Given the description of an element on the screen output the (x, y) to click on. 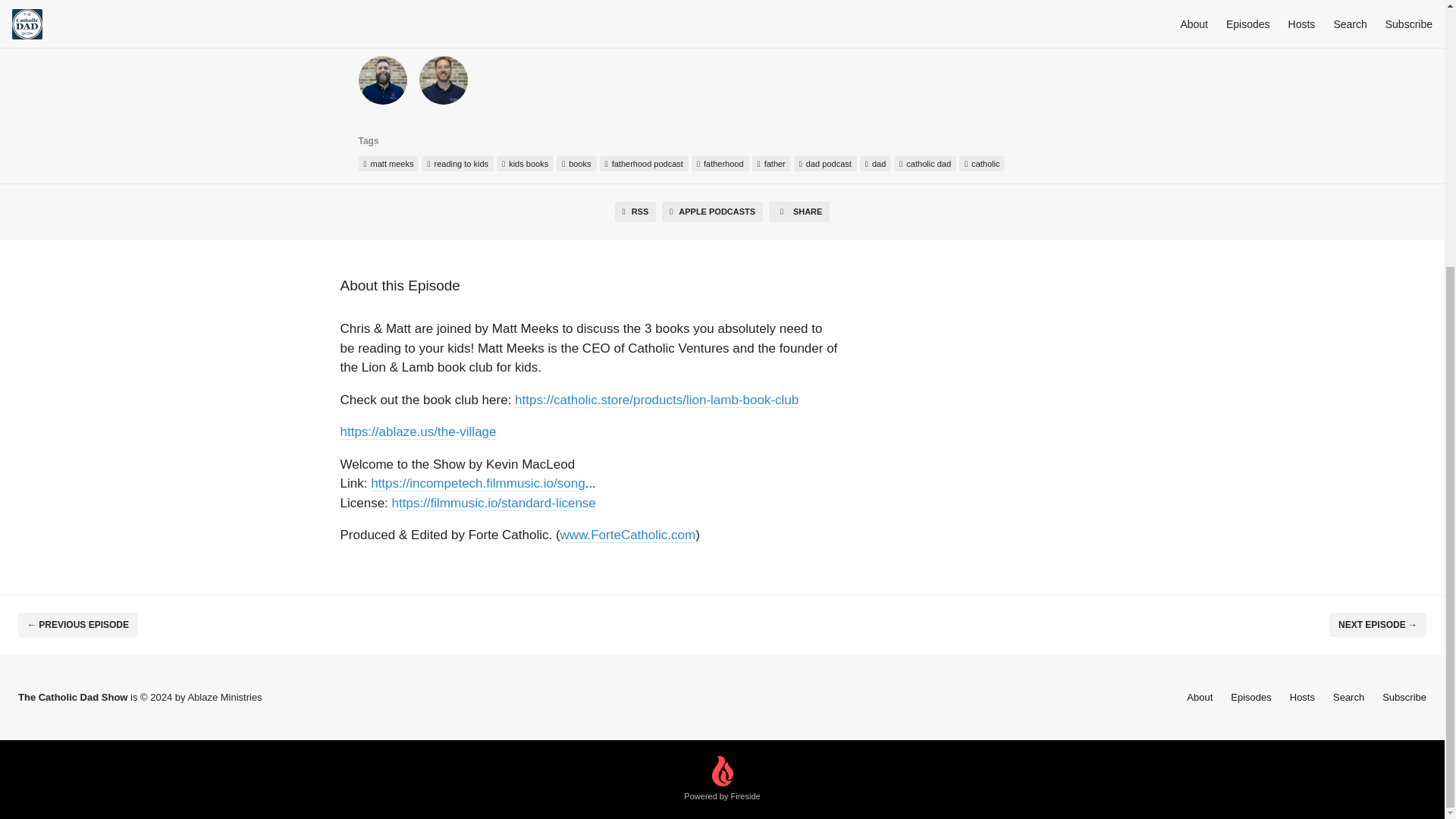
Powered by Fireside (722, 779)
kids books (524, 163)
matt meeks (388, 163)
dad (875, 163)
Matt Rice (382, 83)
catholic dad (924, 163)
APPLE PODCASTS (712, 211)
RSS (635, 211)
reading to kids (457, 163)
catholic (981, 163)
fatherhood (720, 163)
dad podcast (825, 163)
SHARE (798, 211)
fatherhood podcast (643, 163)
books (575, 163)
